Given the description of an element on the screen output the (x, y) to click on. 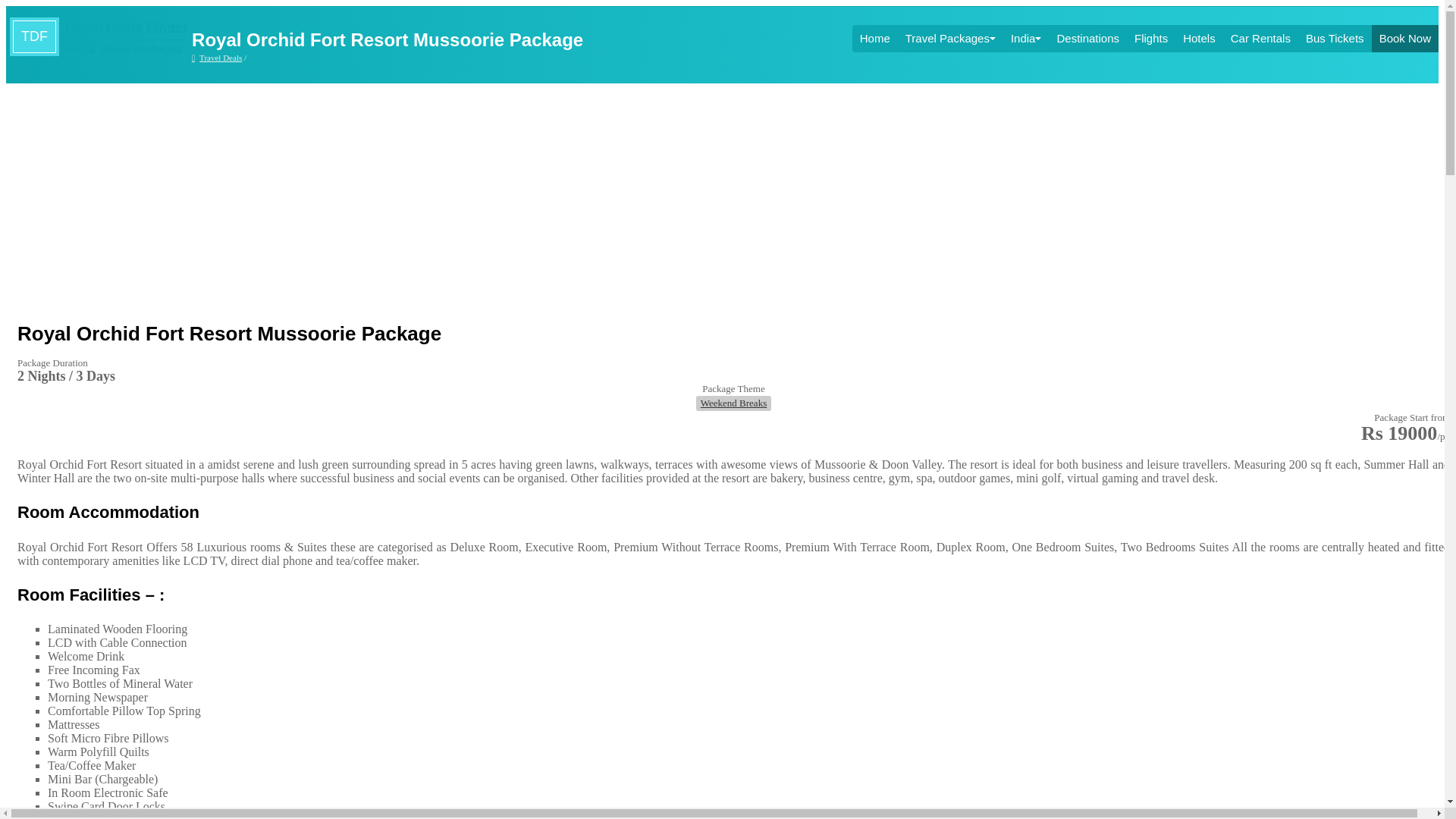
Car Rentals (1260, 38)
Destinations (1088, 38)
Bus Tickets (1335, 38)
Flights (1150, 38)
Book Now (1404, 38)
Weekend Breaks (733, 403)
Hotels (1198, 38)
Travel Deals (216, 57)
Home (874, 38)
